Given the description of an element on the screen output the (x, y) to click on. 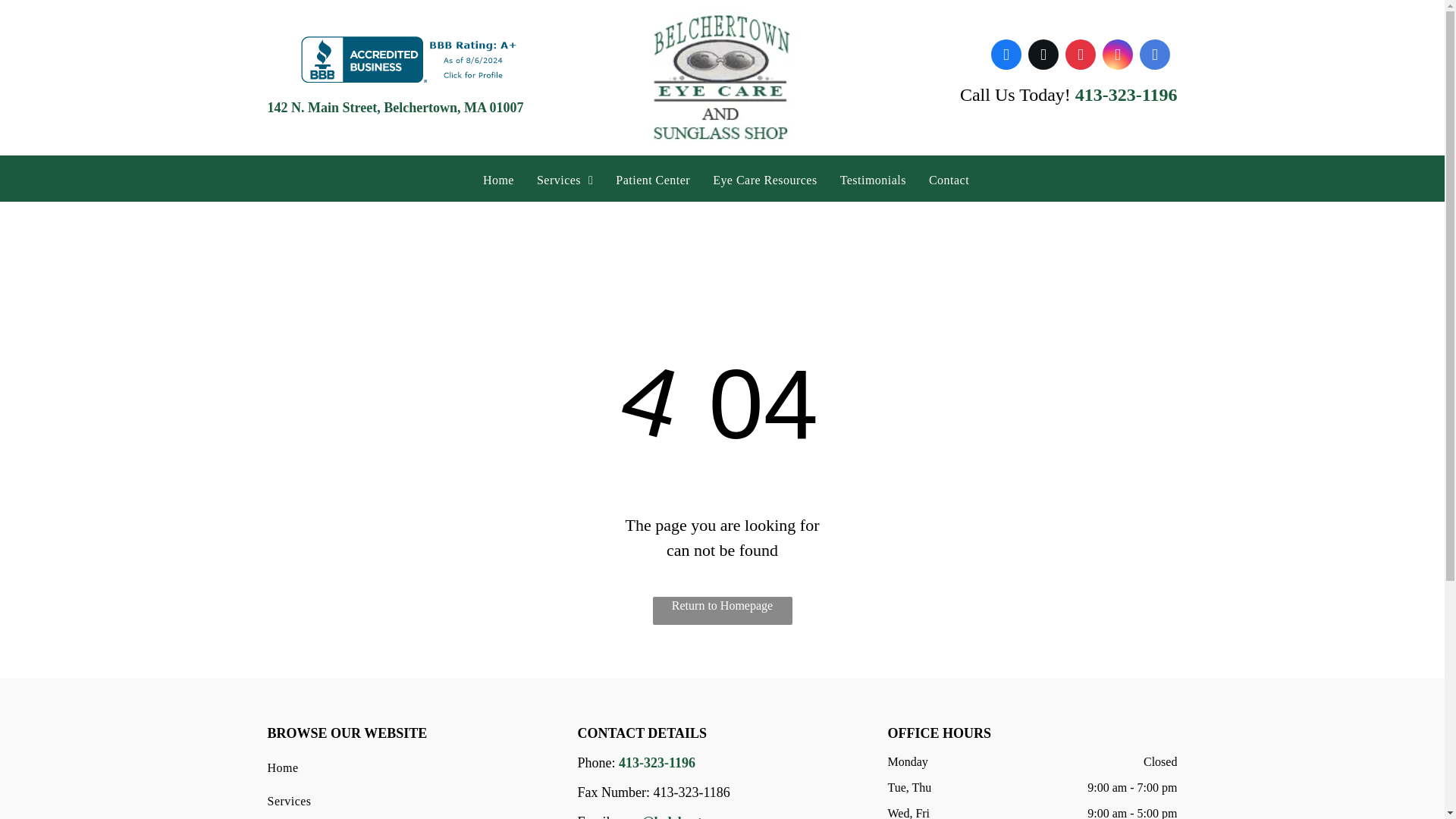
Home (498, 180)
Belchertown Eye Care and Sunglass Shop (722, 77)
142 N. Main Street, Belchertown, MA 01007 (394, 107)
Contact (948, 180)
413-323-1196 (1126, 94)
Eye Care Resources (764, 180)
Services (405, 801)
Return to Homepage (722, 610)
413-323-1196 (656, 762)
Patient Center (652, 180)
